Given the description of an element on the screen output the (x, y) to click on. 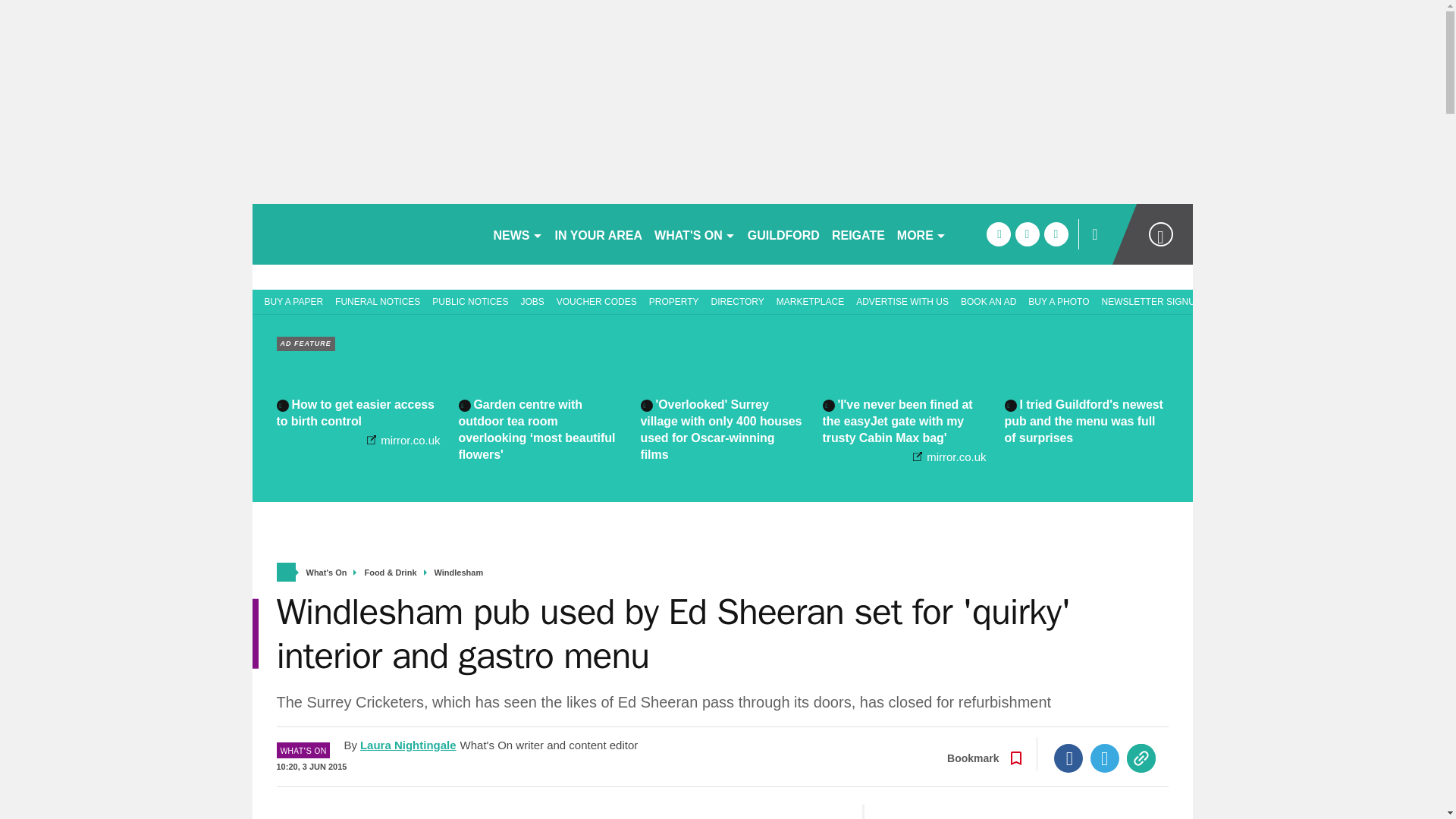
facebook (997, 233)
PROPERTY (673, 300)
WHAT'S ON (694, 233)
IN YOUR AREA (598, 233)
Facebook (1068, 758)
BUY A PAPER (290, 300)
getsurrey (365, 233)
REIGATE (858, 233)
Twitter (1104, 758)
VOUCHER CODES (596, 300)
JOBS (531, 300)
MORE (921, 233)
GUILDFORD (783, 233)
instagram (1055, 233)
twitter (1026, 233)
